Given the description of an element on the screen output the (x, y) to click on. 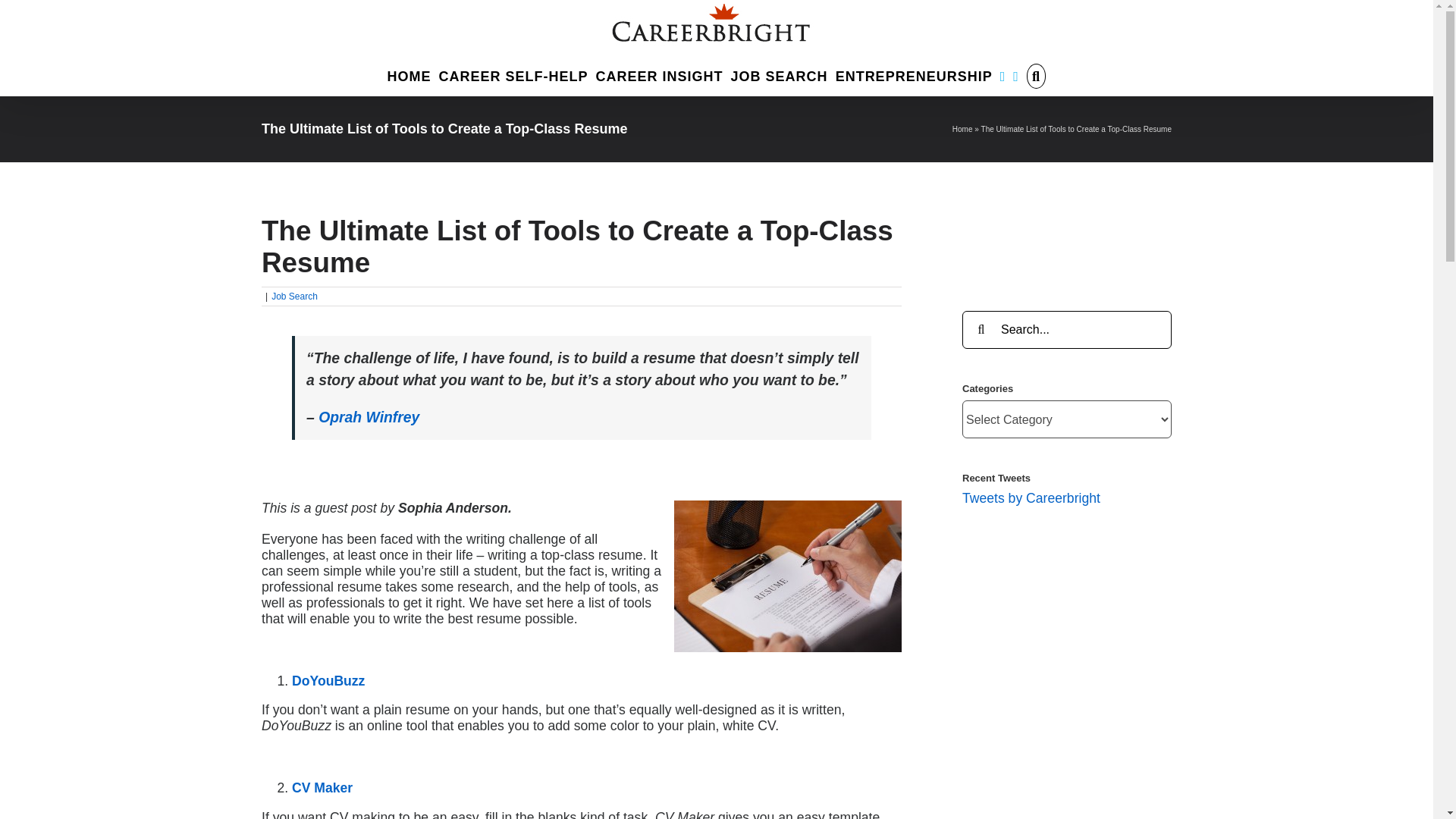
CAREER SELF-HELP (513, 74)
ENTREPRENEURSHIP (913, 74)
CAREER INSIGHT (659, 74)
Oprah Winfrey (368, 416)
Job Search (293, 296)
JOB SEARCH (779, 74)
CV Maker (322, 787)
HOME (408, 74)
DoYouBuzz (328, 680)
Home (962, 129)
